Given the description of an element on the screen output the (x, y) to click on. 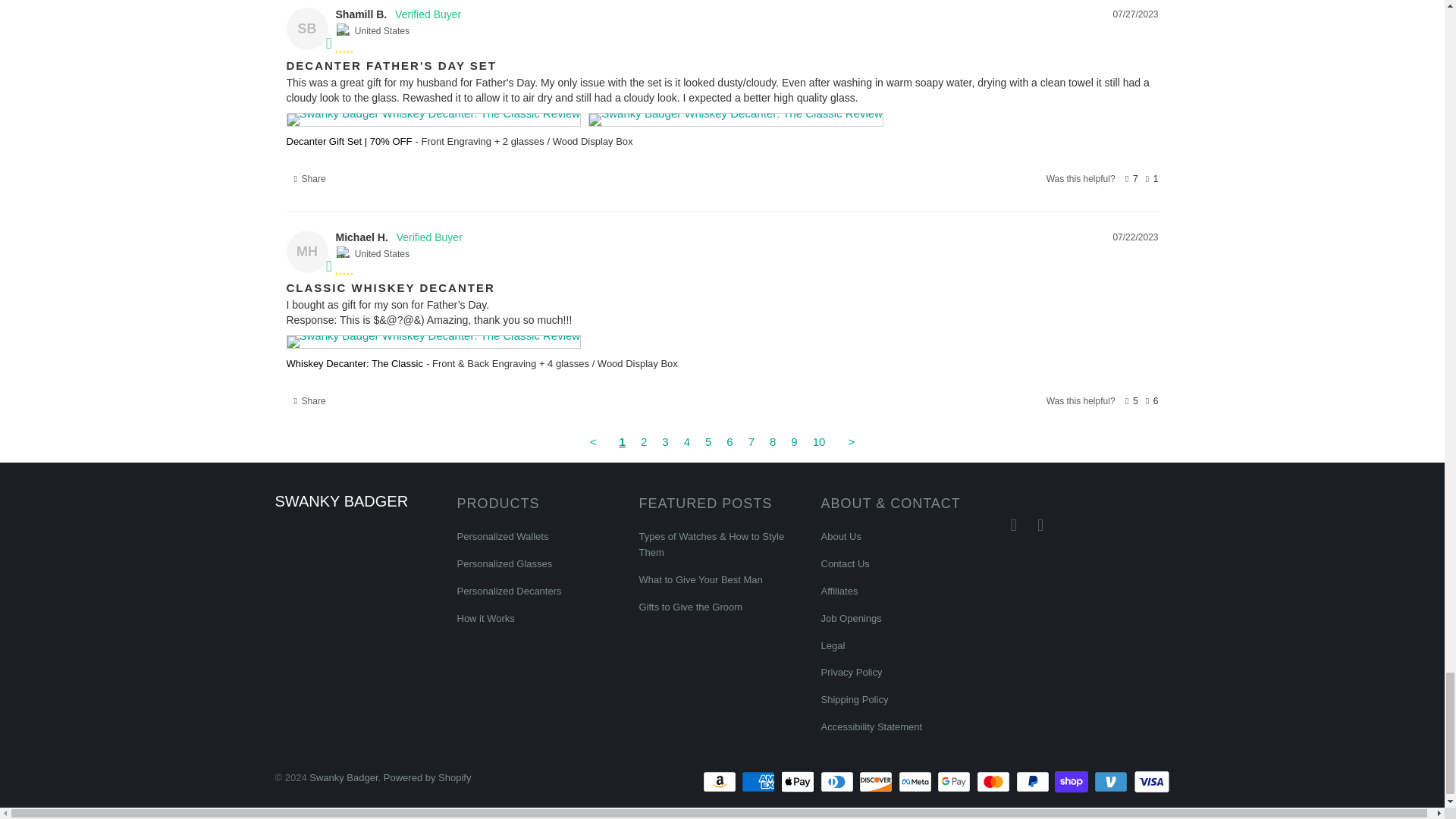
Amazon (721, 781)
Mastercard (994, 781)
Meta Pay (916, 781)
Discover (877, 781)
Google Pay (955, 781)
Venmo (1112, 781)
American Express (759, 781)
Swanky Badger on Instagram (1040, 525)
Diners Club (839, 781)
Shop Pay (1072, 781)
